Given the description of an element on the screen output the (x, y) to click on. 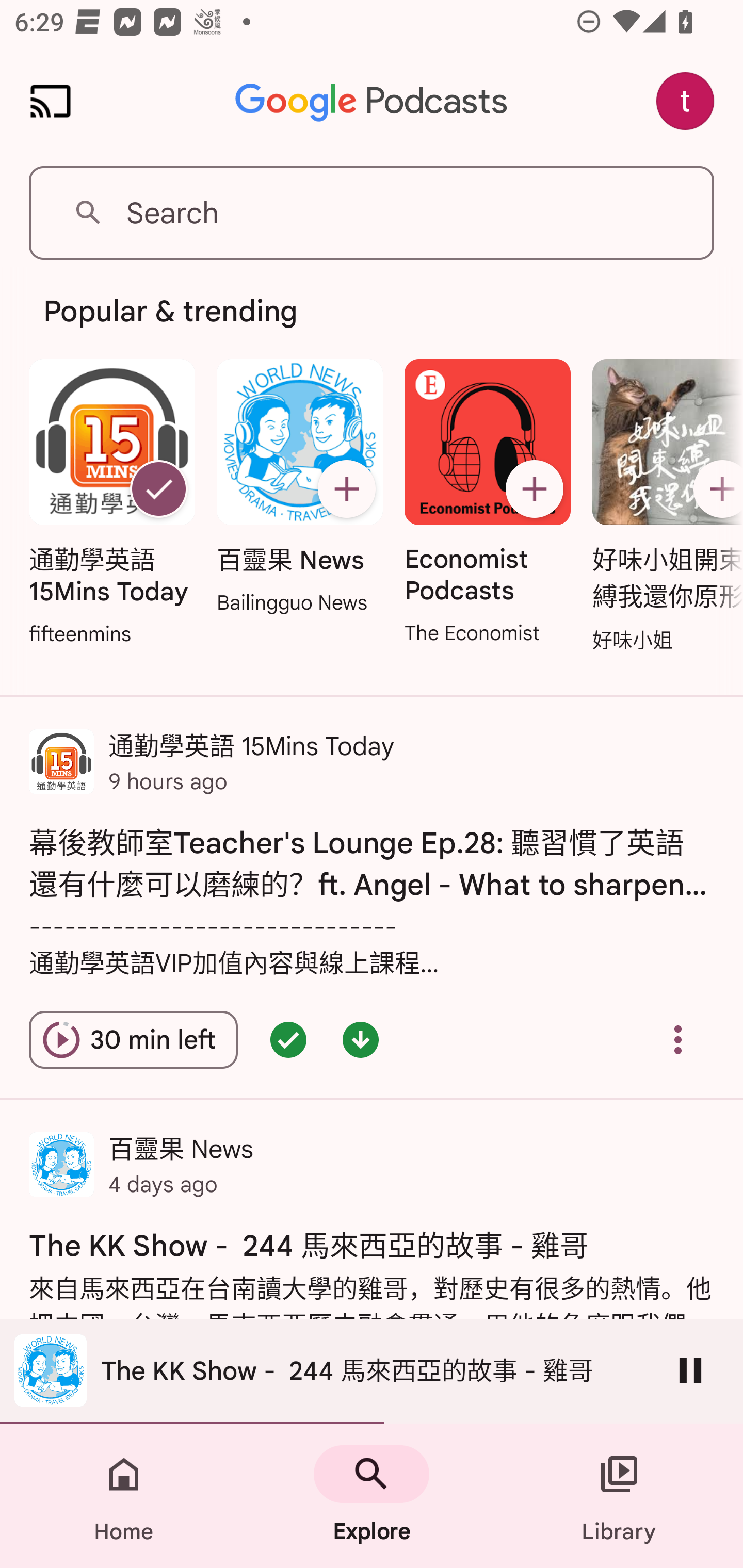
Cast. Disconnected (50, 101)
Search (371, 212)
百靈果 News Subscribe 百靈果 News Bailingguo News (299, 488)
好味小姐開束縛我還你原形 Subscribe 好味小姐開束縛我還你原形 好味小姐 (662, 507)
Unsubscribe (158, 489)
Subscribe (346, 489)
Subscribe (534, 489)
Subscribe (714, 489)
Episode queued - double tap for options (288, 1040)
Episode downloaded - double tap for options (360, 1040)
Overflow menu (677, 1040)
Pause (690, 1370)
Home (123, 1495)
Library (619, 1495)
